Given the description of an element on the screen output the (x, y) to click on. 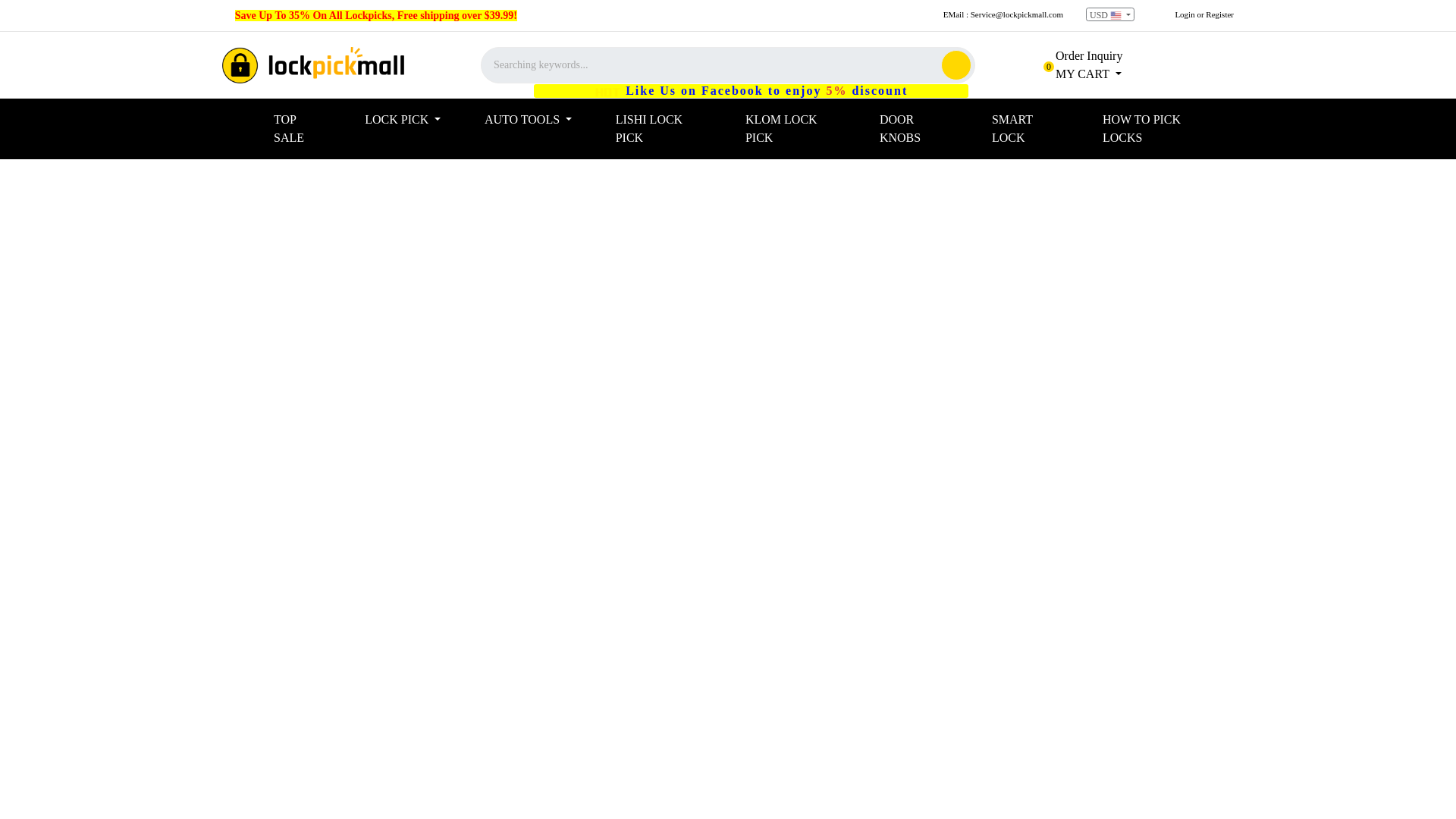
LISHI LOCK PICK (1078, 73)
AUTO TOOLS (674, 128)
Order Inquiry (544, 119)
TOP SALE (1078, 55)
Login (312, 128)
USD (1183, 13)
Lock Pick Set (1110, 14)
KLOM LOCK PICK (313, 64)
LOCK PICK (806, 128)
Register (418, 119)
